Given the description of an element on the screen output the (x, y) to click on. 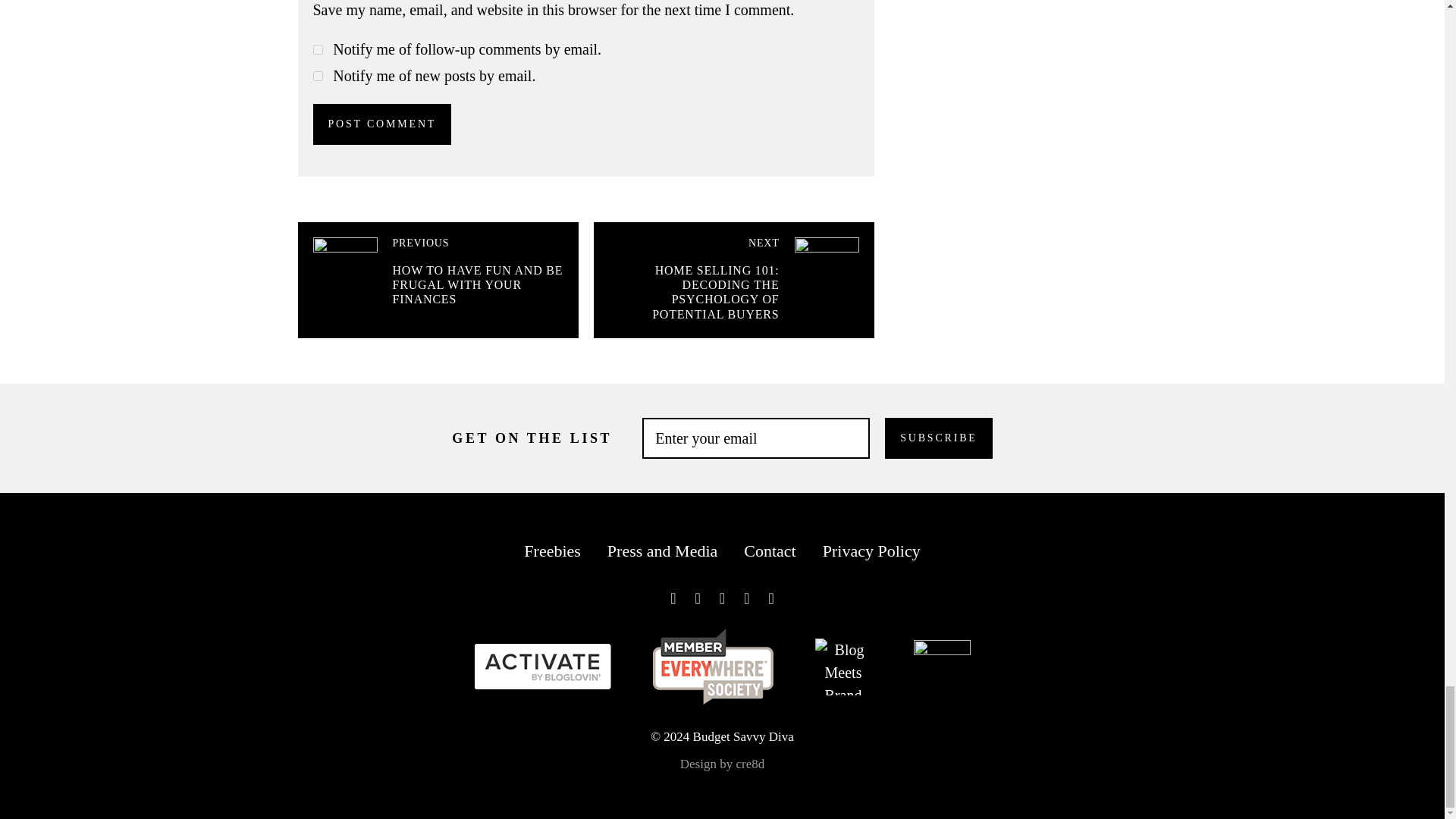
subscribe (317, 49)
subscribe (317, 76)
Post Comment (382, 124)
Subscribe (938, 437)
